Given the description of an element on the screen output the (x, y) to click on. 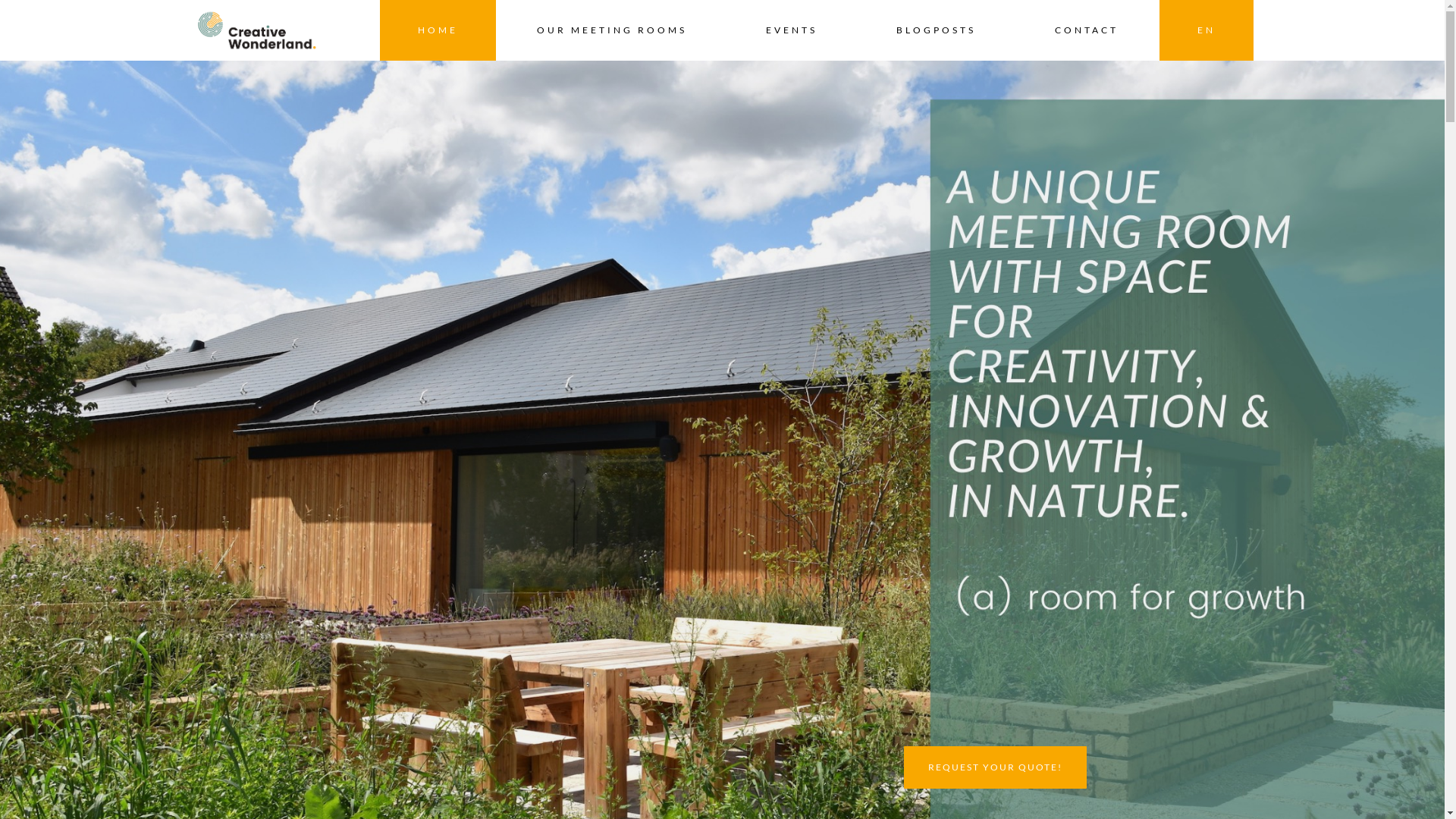
Creative Wonderland Element type: hover (255, 30)
BLOGPOSTS Element type: text (935, 30)
CONTACT Element type: text (1085, 30)
HOME Element type: text (437, 30)
EN Element type: text (1205, 30)
EVENTS Element type: text (791, 30)
OUR MEETING ROOMS Element type: text (611, 30)
REQUEST YOUR QUOTE! Element type: text (994, 767)
